Given the description of an element on the screen output the (x, y) to click on. 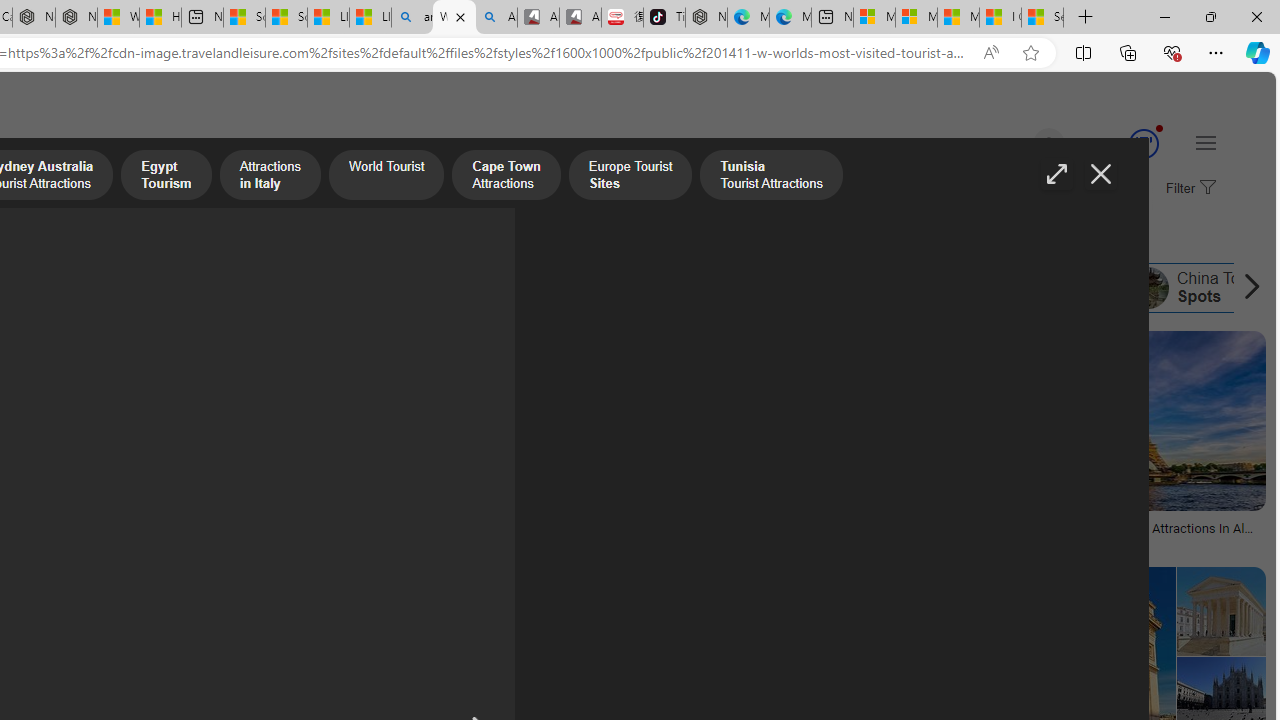
World tourist attraction - Search Images (453, 17)
Settings and quick links (1205, 142)
Egypt Tourism (166, 177)
Cape Town Attractions (94, 287)
Class: medal-svg-animation (1143, 143)
WorldAtlas (1130, 542)
inf-inet.com (575, 542)
Close image (1100, 173)
